Given the description of an element on the screen output the (x, y) to click on. 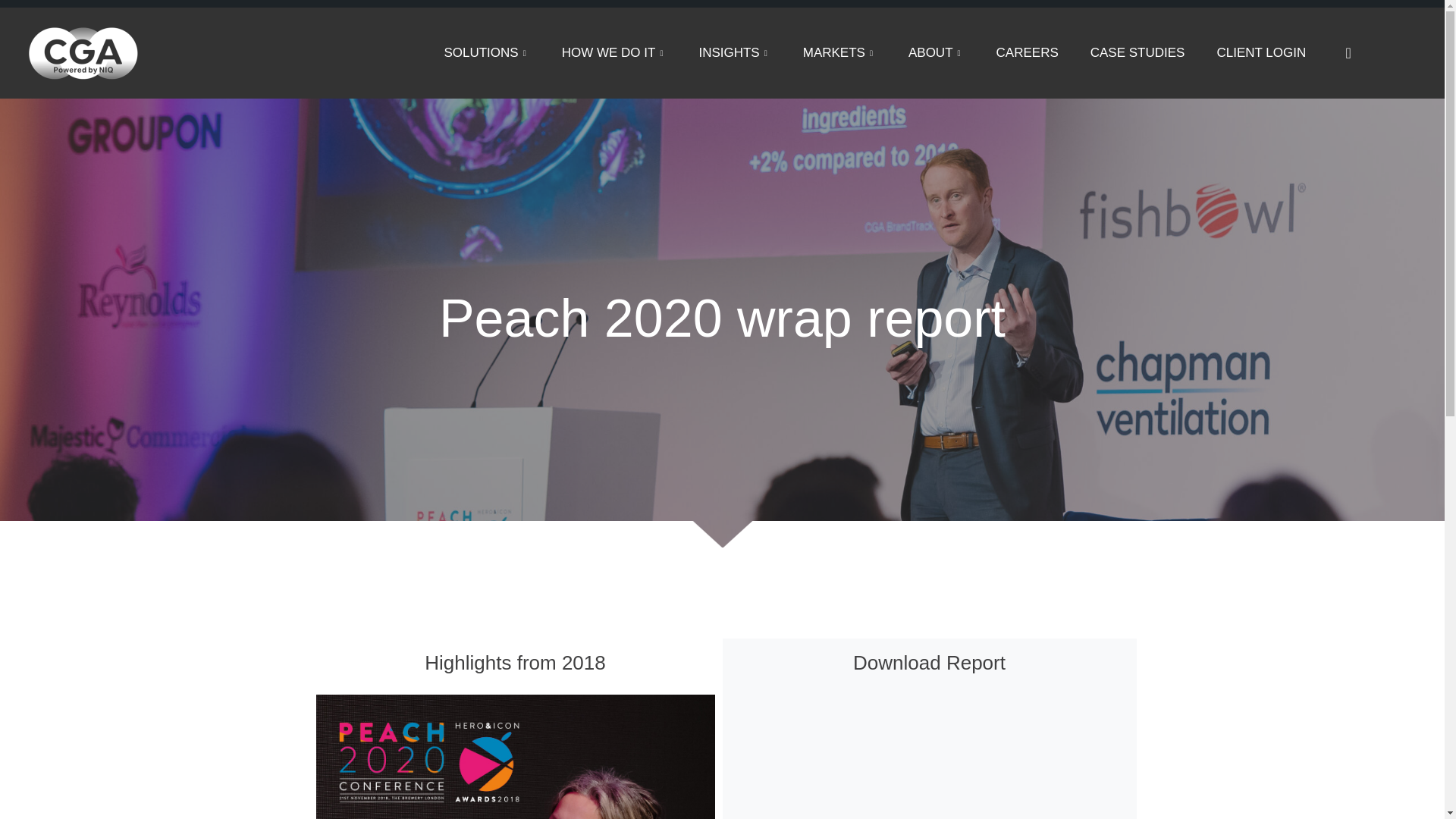
INSIGHTS (734, 52)
CASE STUDIES (1137, 52)
HOW WE DO IT (614, 52)
ABOUT (935, 52)
CAREERS (1026, 52)
CGANIQ white logo rectangle (82, 52)
SOLUTIONS (486, 52)
MARKETS (839, 52)
CLIENT LOGIN (1260, 52)
